Given the description of an element on the screen output the (x, y) to click on. 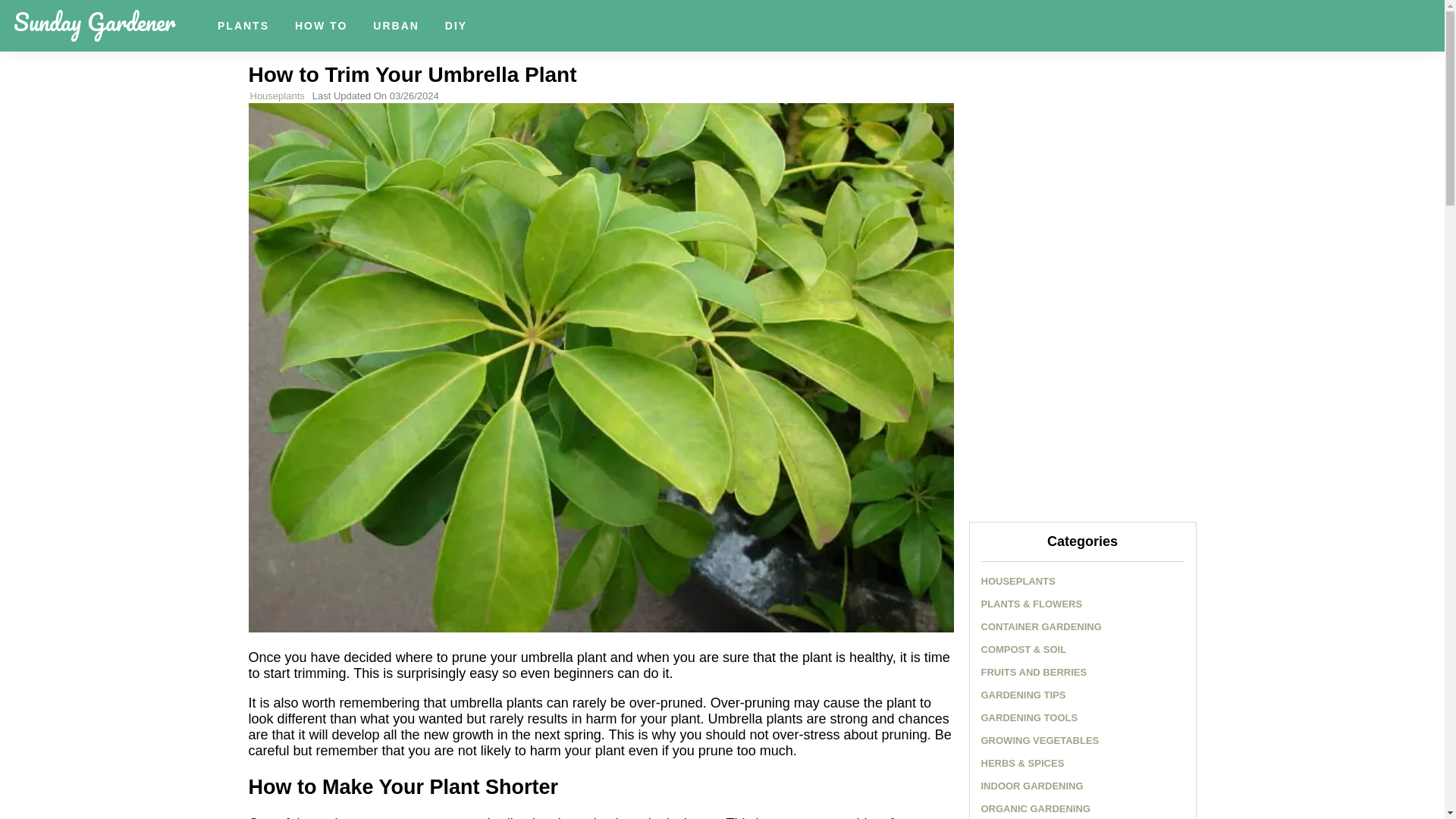
URBAN (395, 25)
HOUSEPLANTS (1018, 581)
INDOOR GARDENING (1032, 785)
DIY (456, 25)
GROWING VEGETABLES (1040, 740)
Houseplants (277, 95)
ORGANIC GARDENING (1035, 808)
GARDENING TIPS (1023, 695)
FRUITS AND BERRIES (1034, 672)
GARDENING TOOLS (1029, 717)
